Given the description of an element on the screen output the (x, y) to click on. 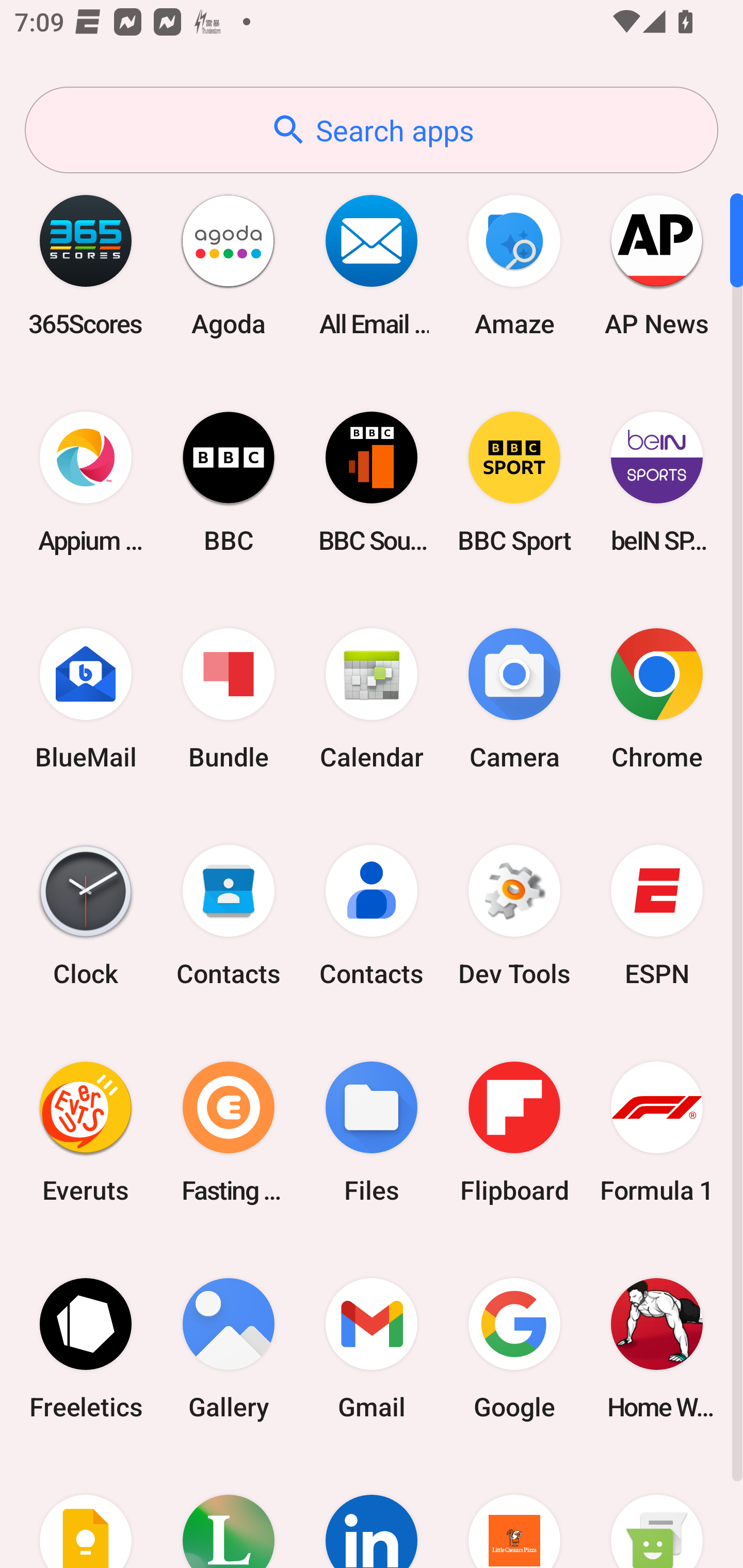
  Search apps (371, 130)
365Scores (85, 264)
Agoda (228, 264)
All Email Connect (371, 264)
Amaze (514, 264)
AP News (656, 264)
Appium Settings (85, 482)
BBC (228, 482)
BBC Sounds (371, 482)
BBC Sport (514, 482)
beIN SPORTS (656, 482)
BlueMail (85, 699)
Bundle (228, 699)
Calendar (371, 699)
Camera (514, 699)
Chrome (656, 699)
Clock (85, 915)
Contacts (228, 915)
Contacts (371, 915)
Dev Tools (514, 915)
ESPN (656, 915)
Everuts (85, 1131)
Fasting Coach (228, 1131)
Files (371, 1131)
Flipboard (514, 1131)
Formula 1 (656, 1131)
Freeletics (85, 1348)
Gallery (228, 1348)
Gmail (371, 1348)
Google (514, 1348)
Home Workout (656, 1348)
Keep Notes (85, 1512)
Lifesum (228, 1512)
LinkedIn (371, 1512)
Little Caesars Pizza (514, 1512)
Messaging (656, 1512)
